Given the description of an element on the screen output the (x, y) to click on. 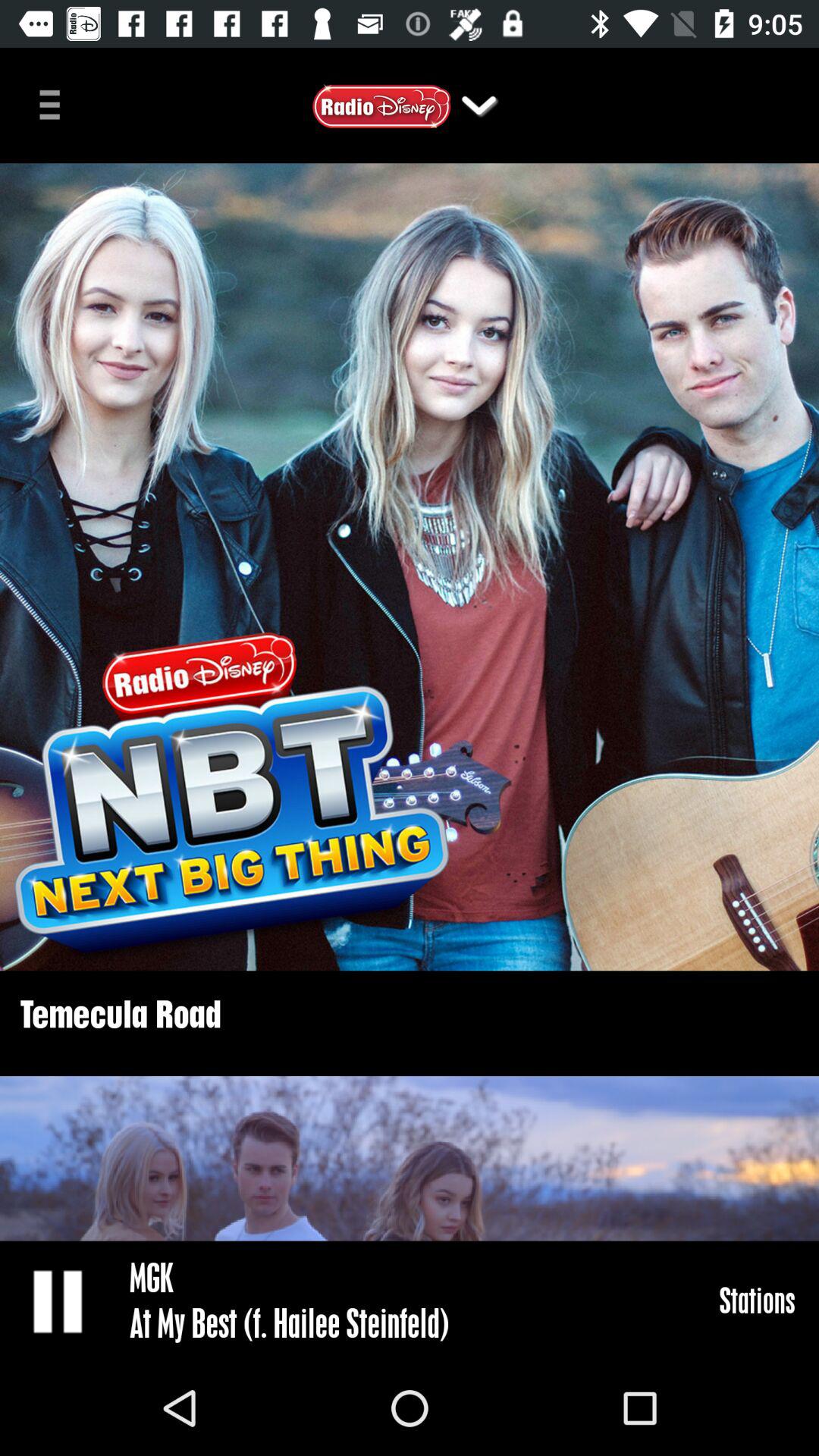
click icon next to the mgk icon (757, 1300)
